Given the description of an element on the screen output the (x, y) to click on. 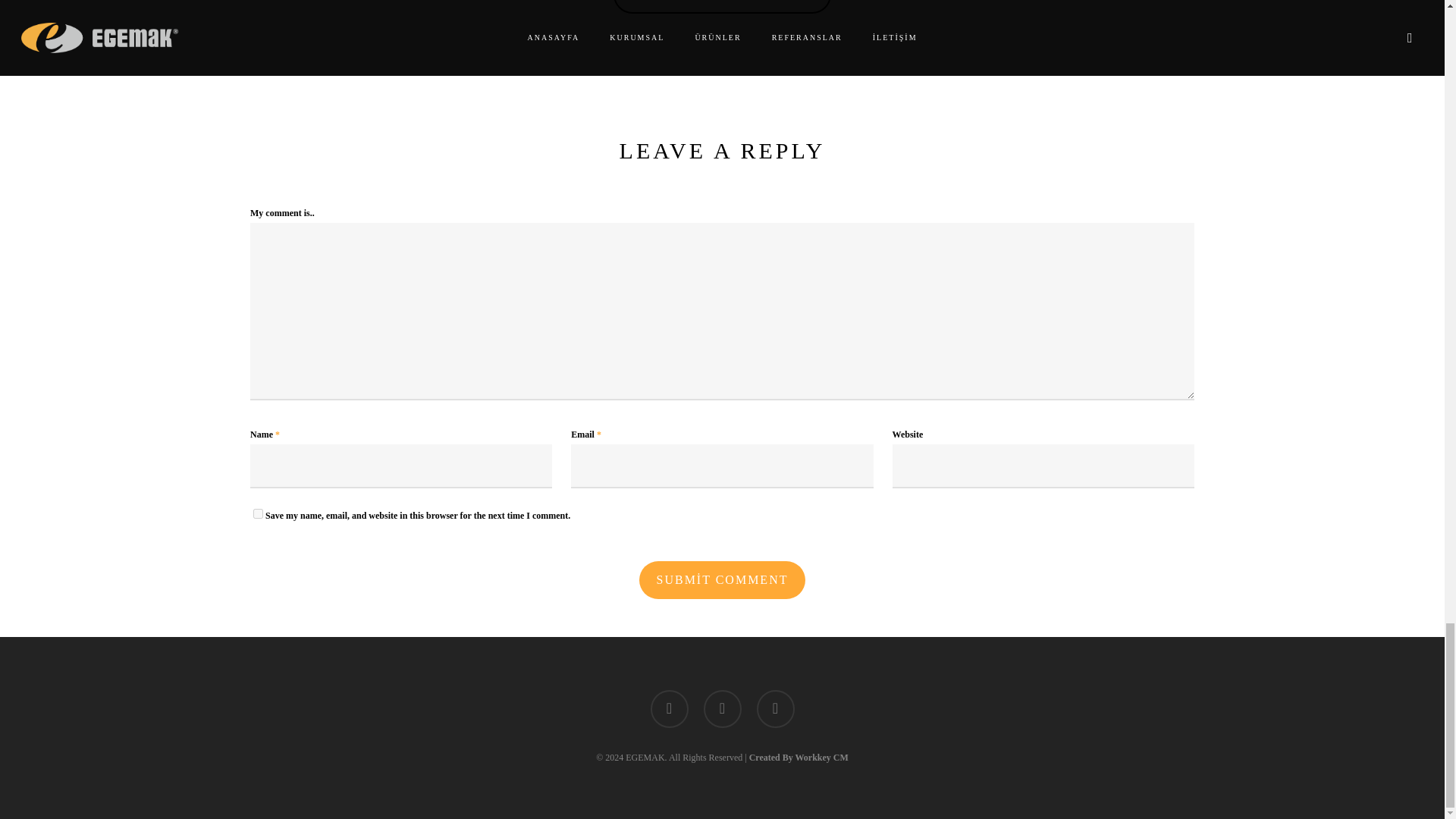
yes (258, 513)
Submit Comment (722, 579)
Submit Comment (722, 579)
MORE POSTS BY EMRE EMRE (721, 6)
